Given the description of an element on the screen output the (x, y) to click on. 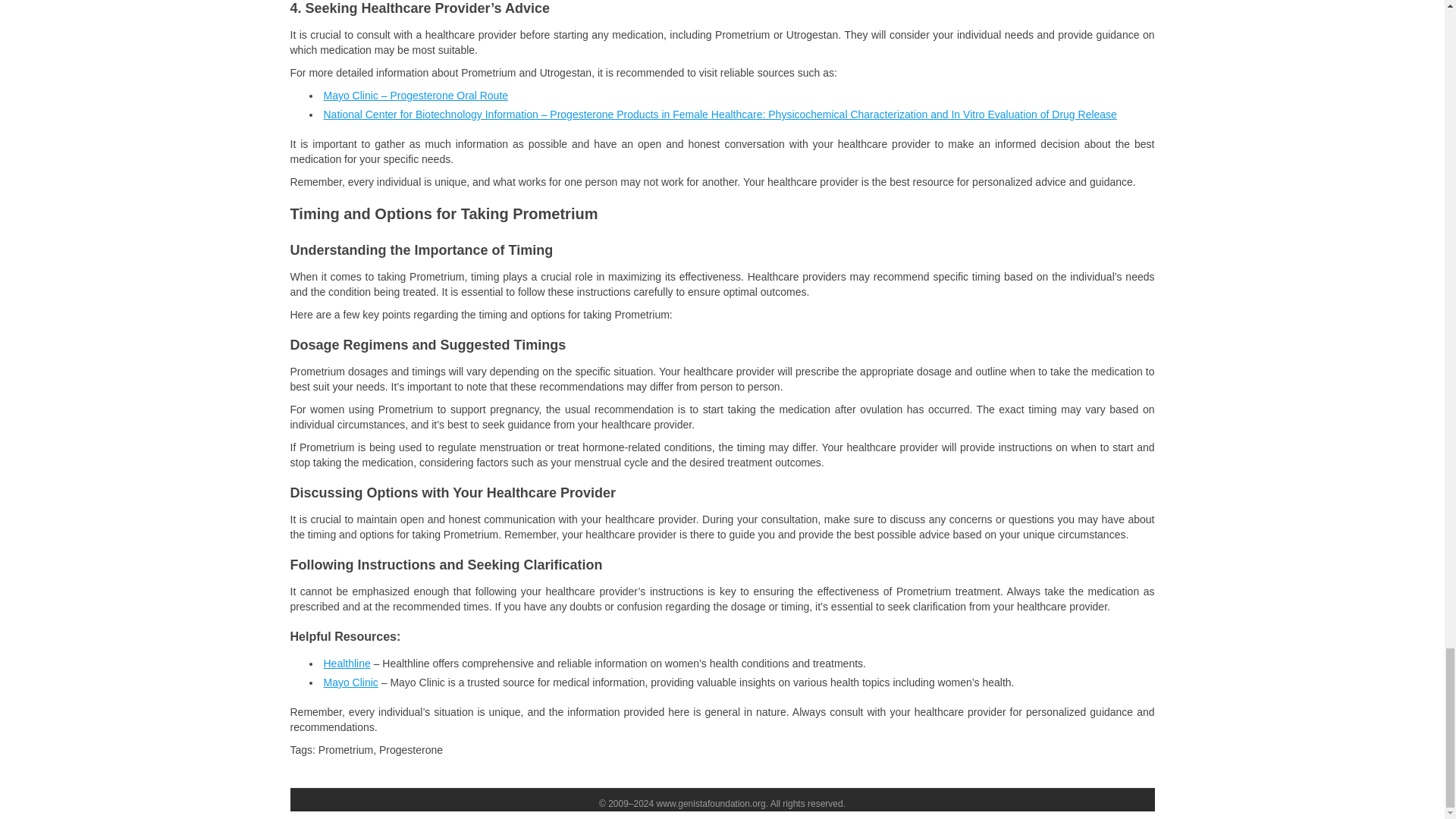
Healthline (346, 663)
Mayo Clinic (350, 682)
